Given the description of an element on the screen output the (x, y) to click on. 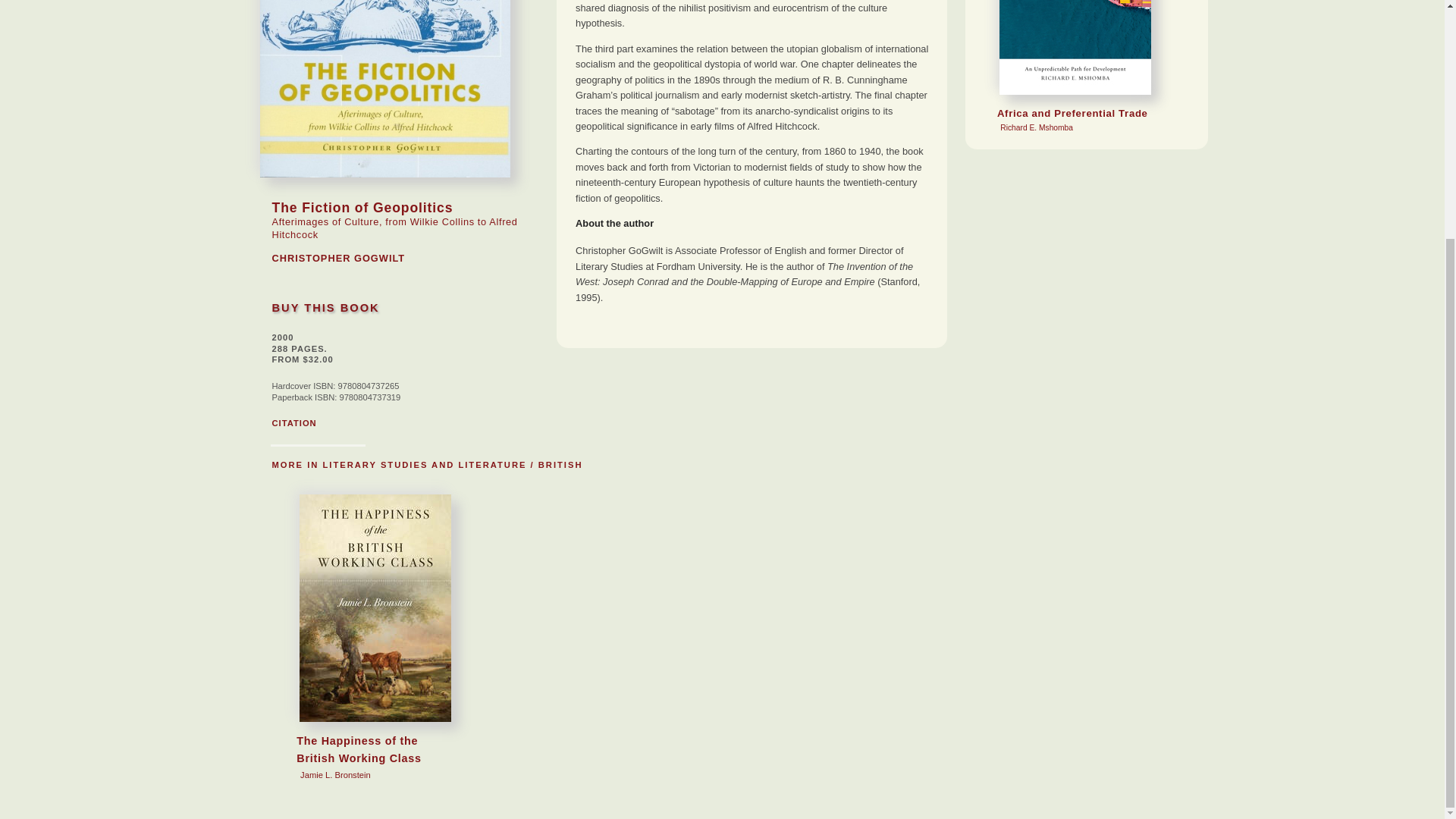
BUY THIS BOOK (324, 307)
CITATION (1085, 69)
